Given the description of an element on the screen output the (x, y) to click on. 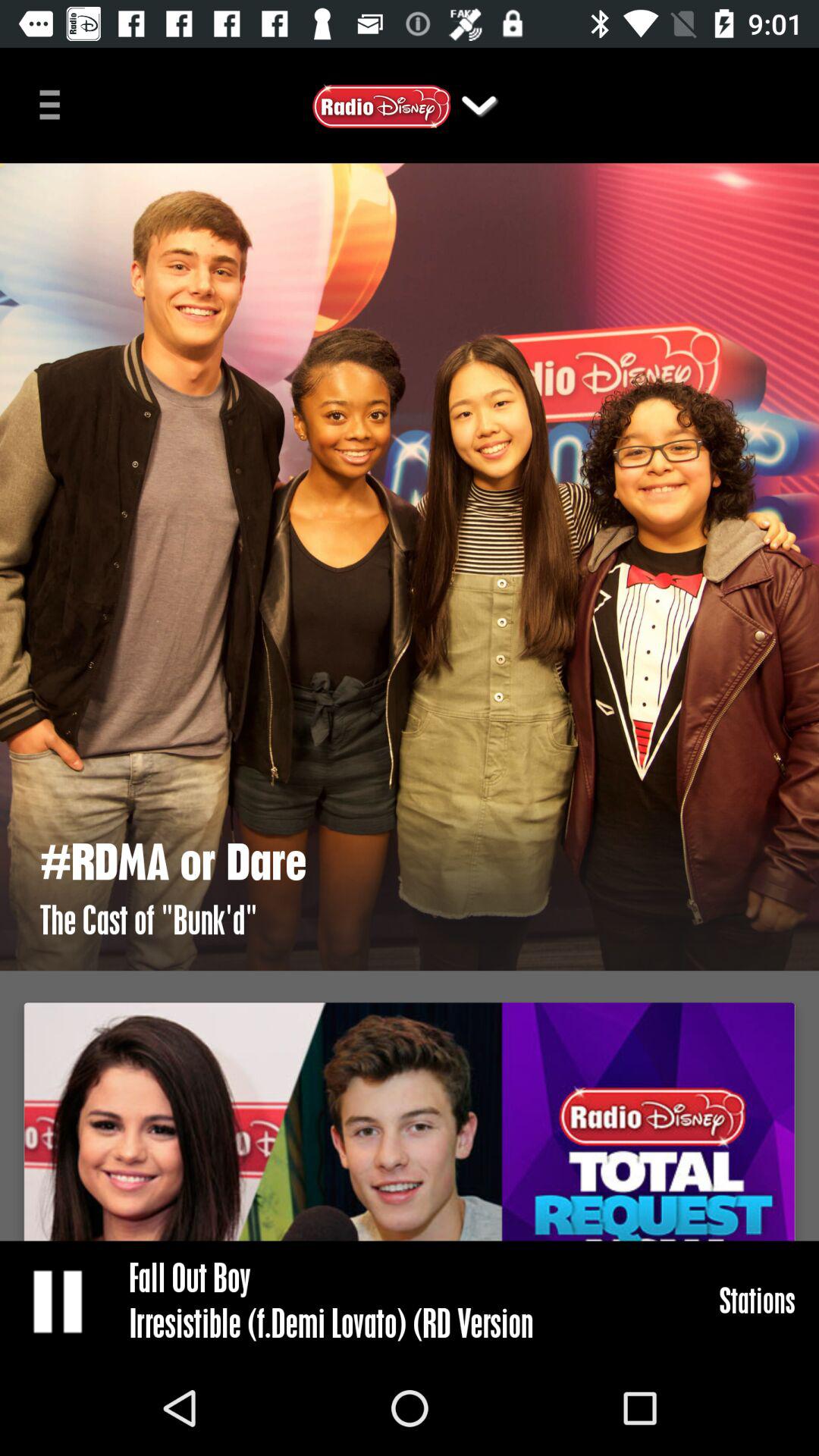
open the stations icon (757, 1300)
